Given the description of an element on the screen output the (x, y) to click on. 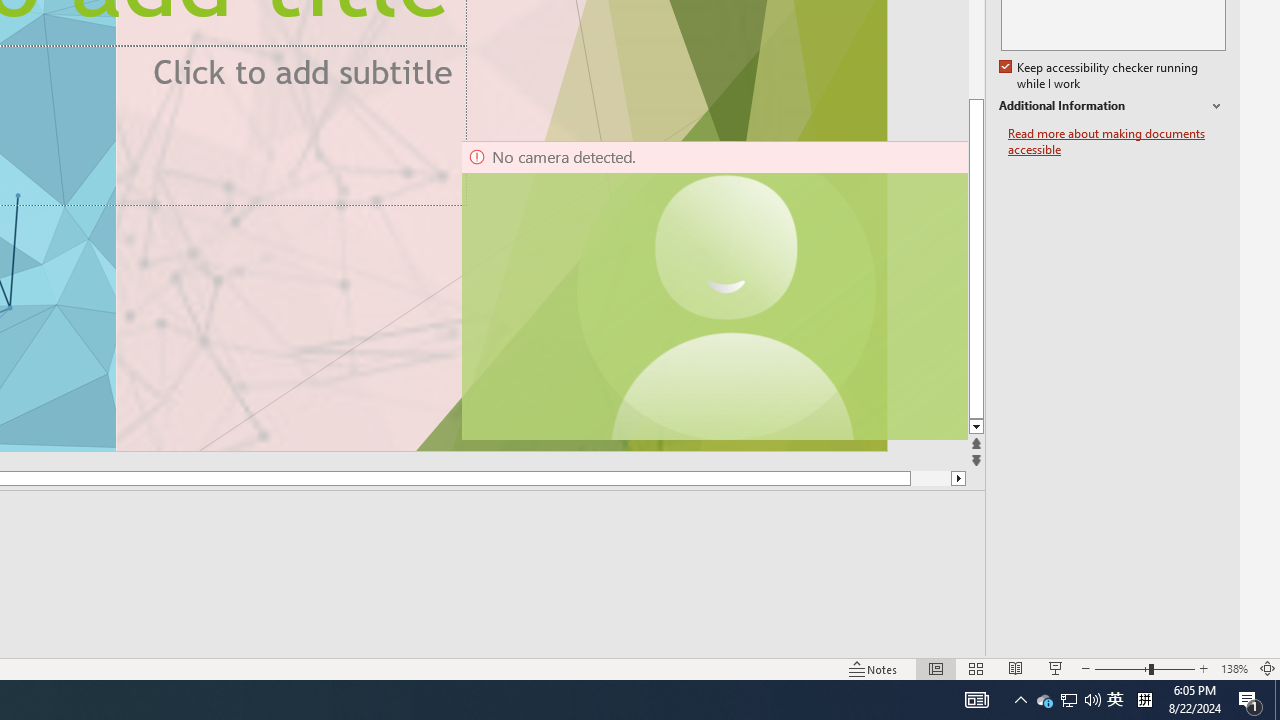
Camera 14, No camera detected. (713, 290)
